Given the description of an element on the screen output the (x, y) to click on. 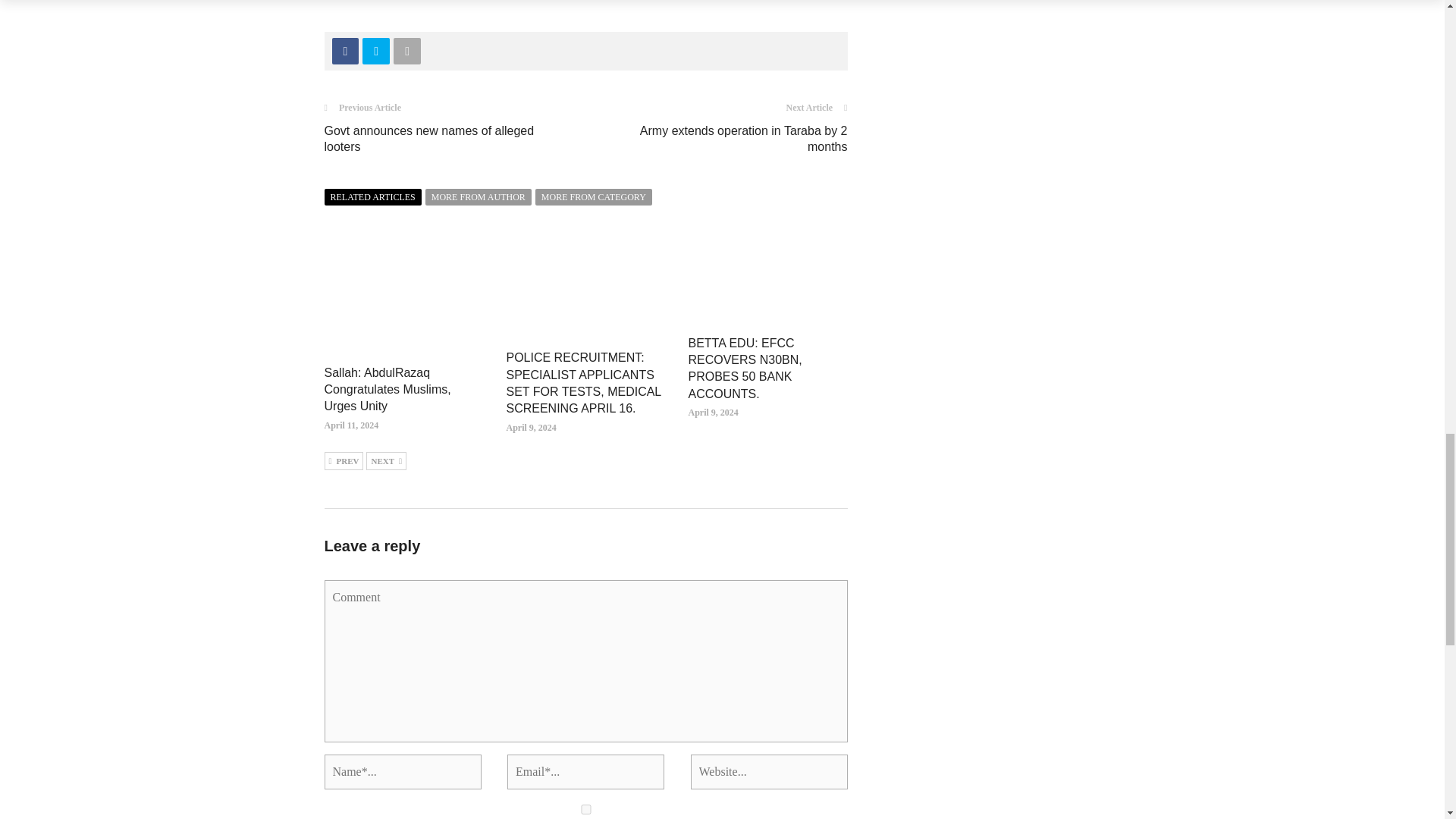
yes (585, 809)
Next (386, 461)
Previous (344, 461)
